Given the description of an element on the screen output the (x, y) to click on. 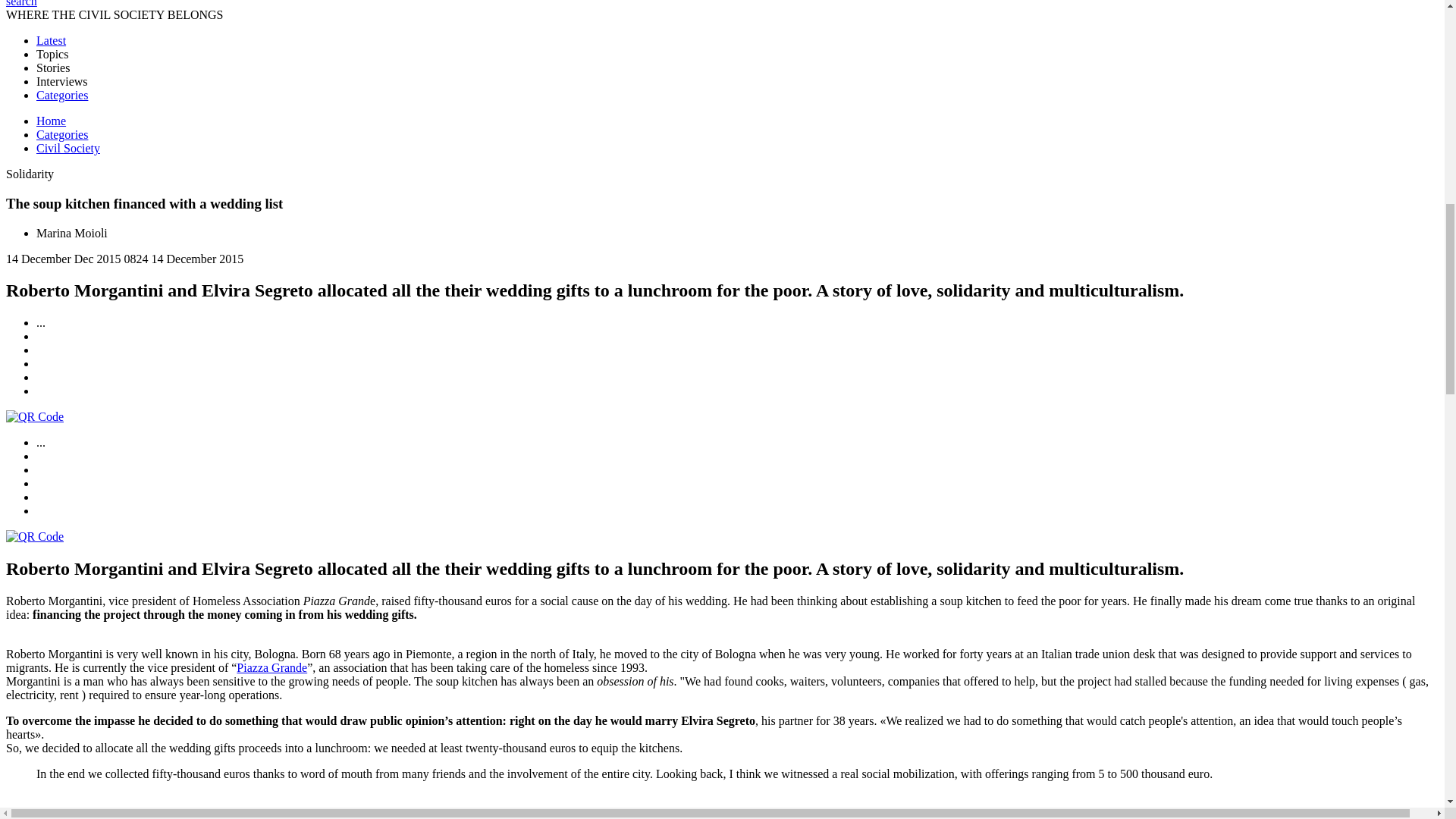
Latest (50, 40)
Topics (52, 53)
Search on Vita International (21, 3)
search (21, 3)
